Given the description of an element on the screen output the (x, y) to click on. 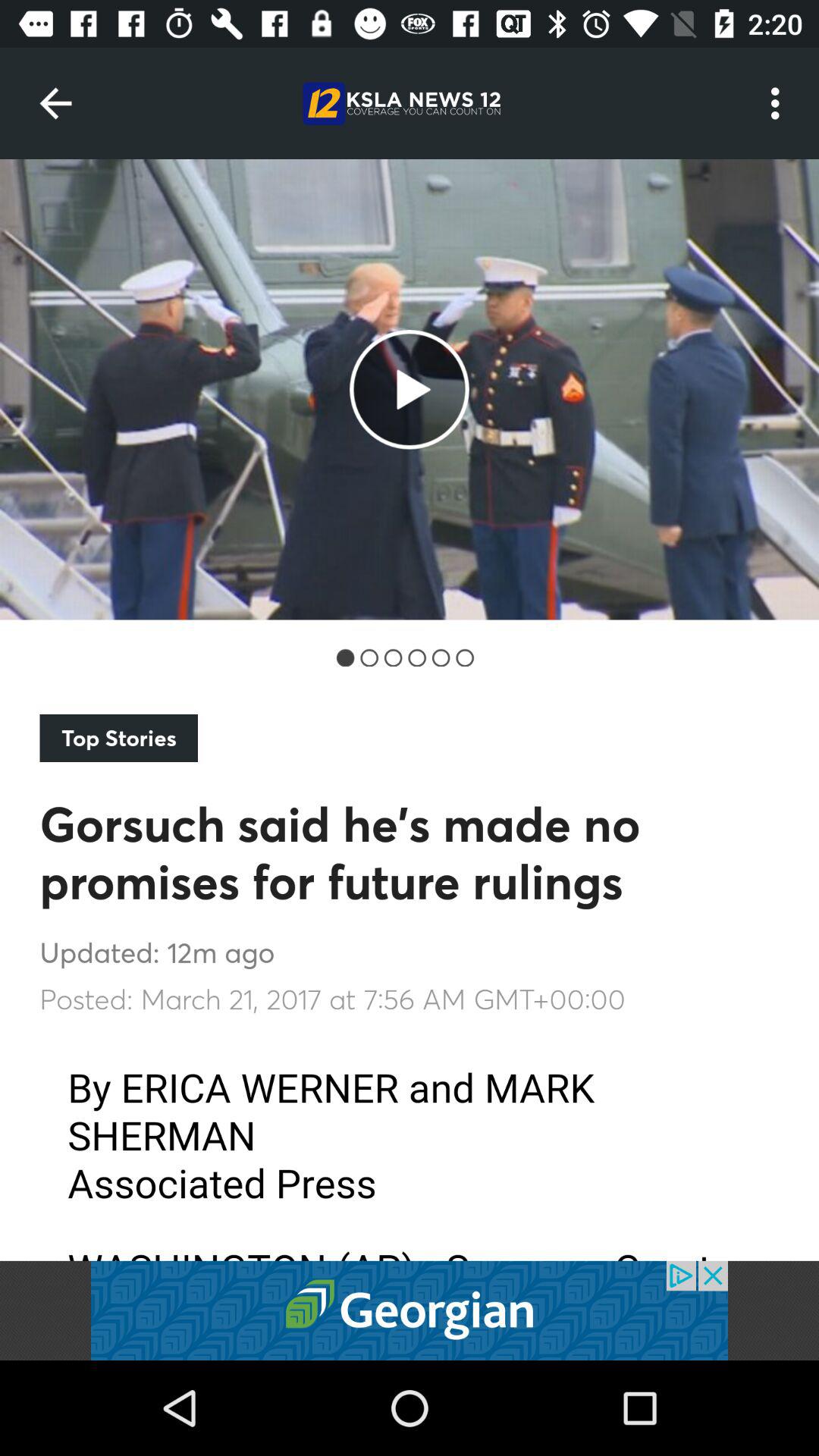
go to link in advertisement (409, 1310)
